Given the description of an element on the screen output the (x, y) to click on. 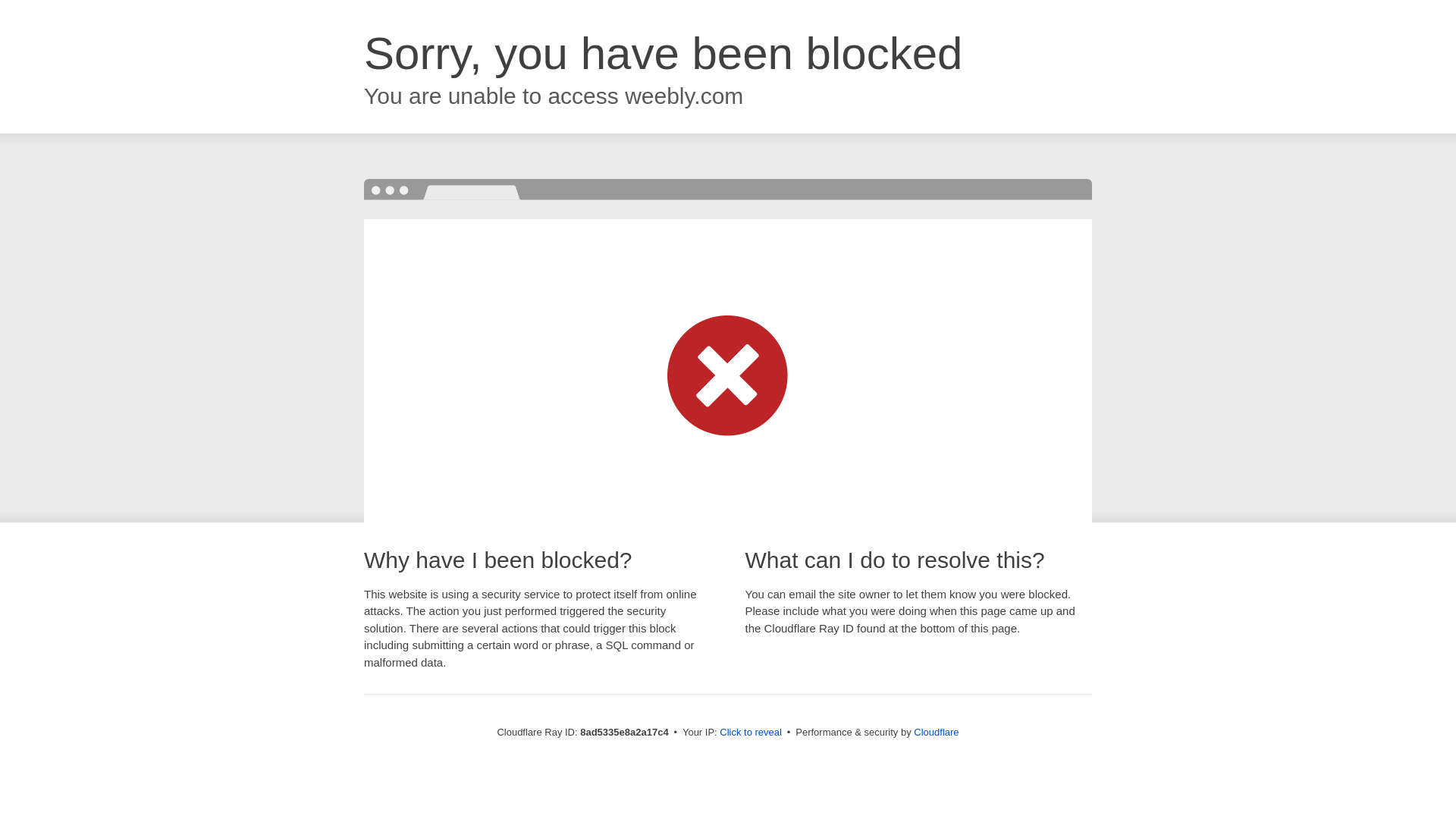
Cloudflare (936, 731)
Click to reveal (750, 732)
